Given the description of an element on the screen output the (x, y) to click on. 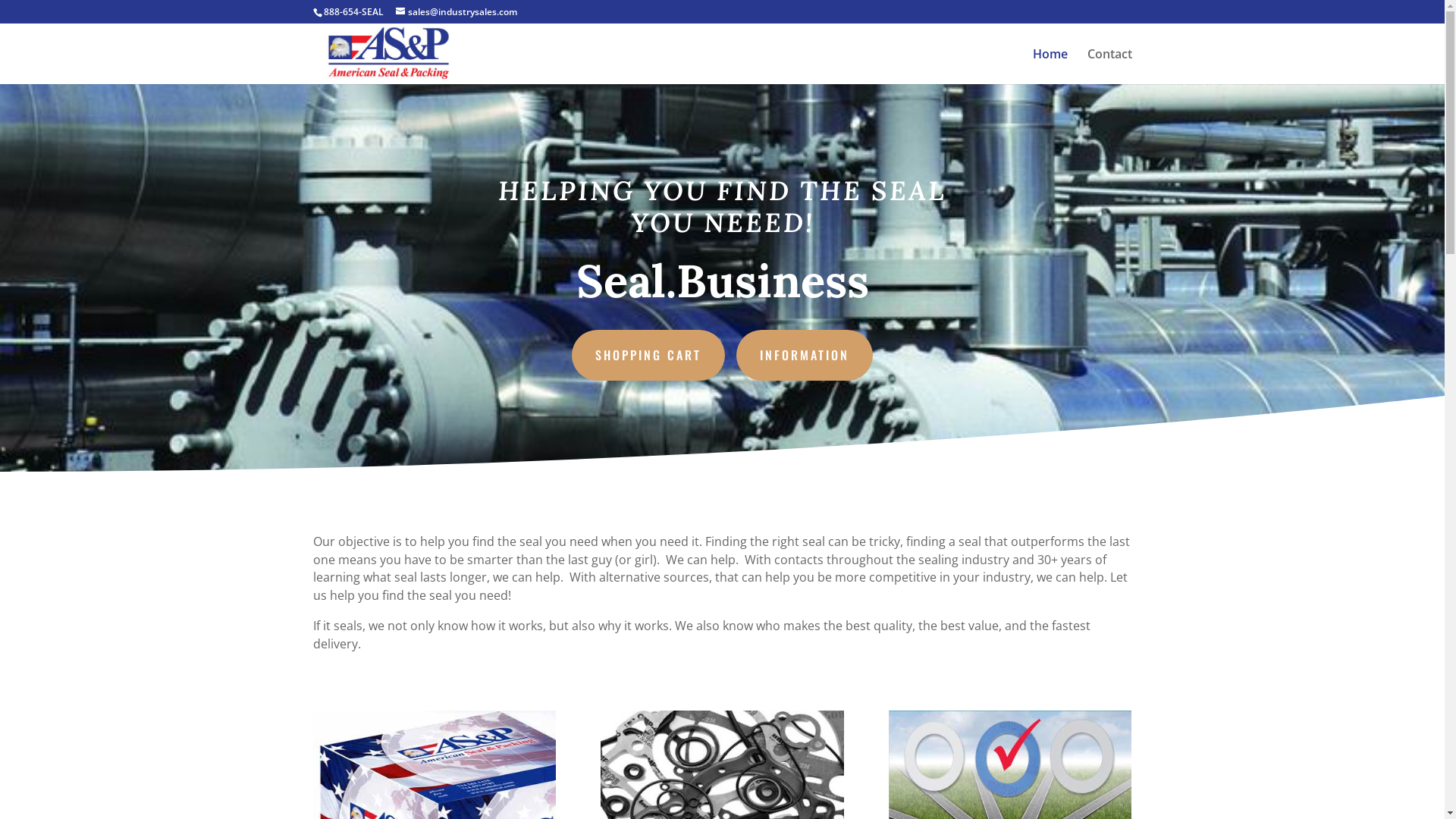
Contact Element type: text (1109, 66)
SHOPPING CART Element type: text (647, 354)
INFORMATION Element type: text (804, 354)
Home Element type: text (1049, 66)
sales@industrysales.com Element type: text (456, 11)
